Given the description of an element on the screen output the (x, y) to click on. 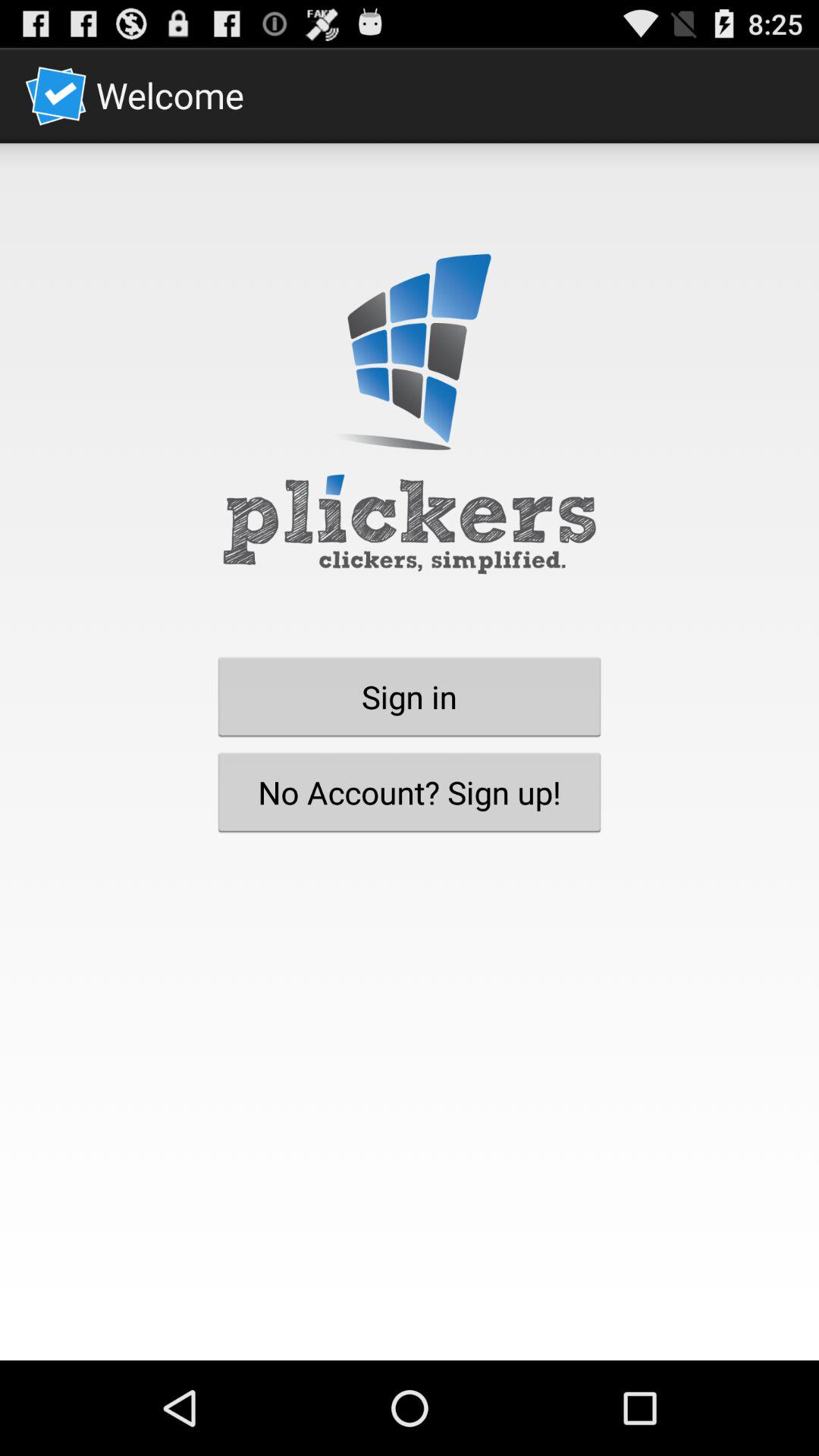
press the item below sign in button (409, 792)
